Given the description of an element on the screen output the (x, y) to click on. 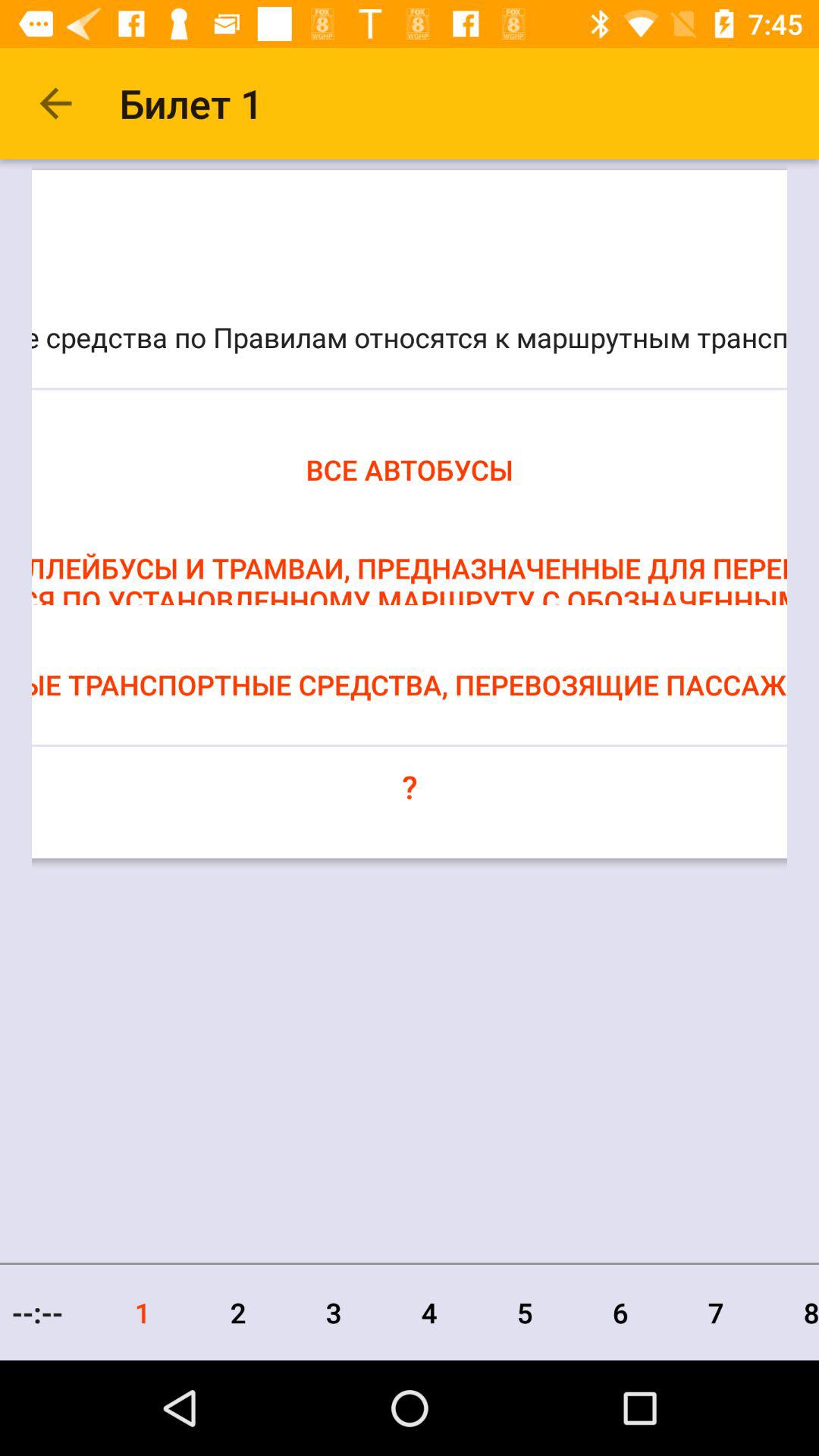
select the icon next to 3 icon (238, 1312)
